Given the description of an element on the screen output the (x, y) to click on. 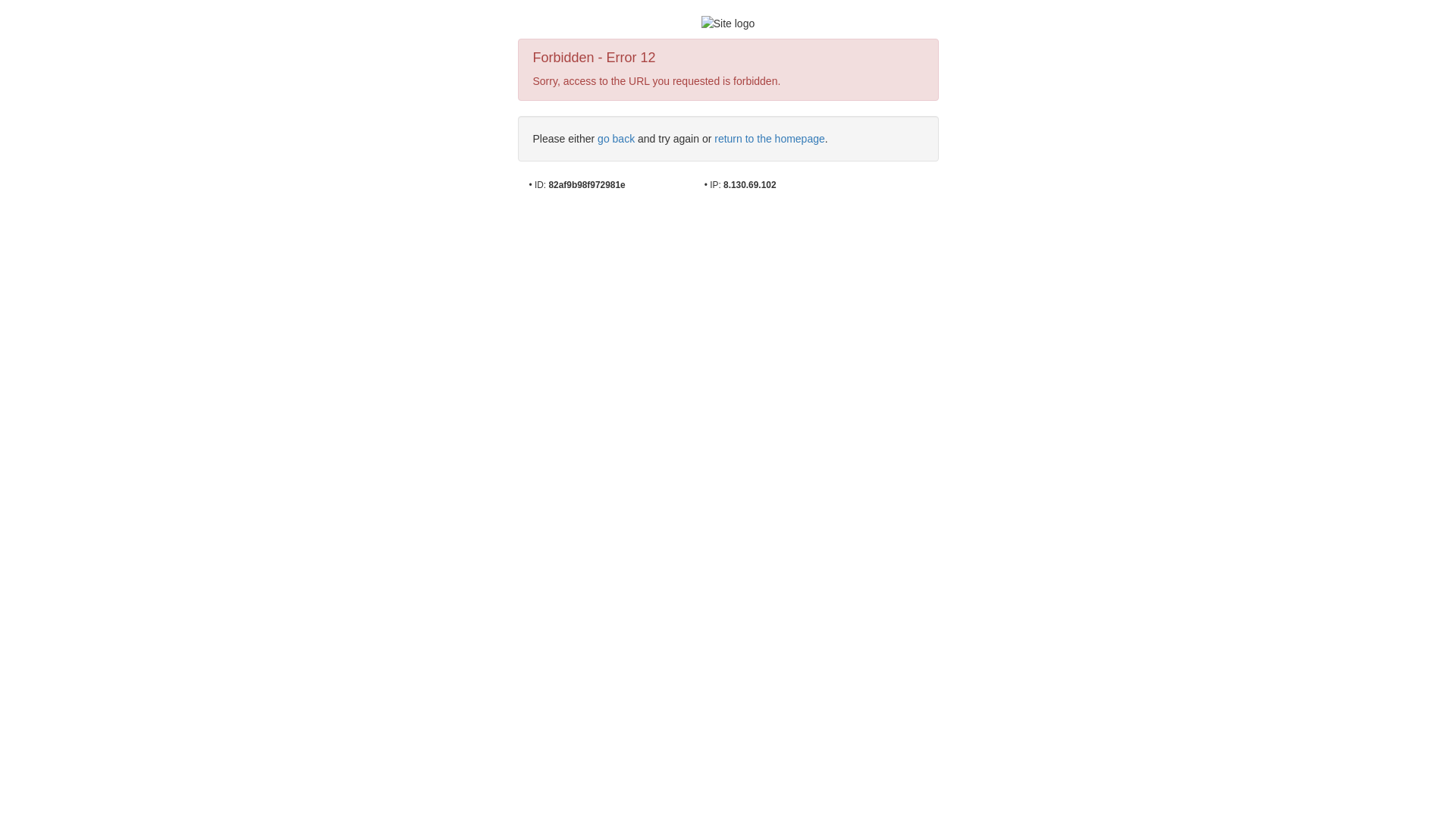
go back Element type: text (615, 138)
return to the homepage Element type: text (769, 138)
